Given the description of an element on the screen output the (x, y) to click on. 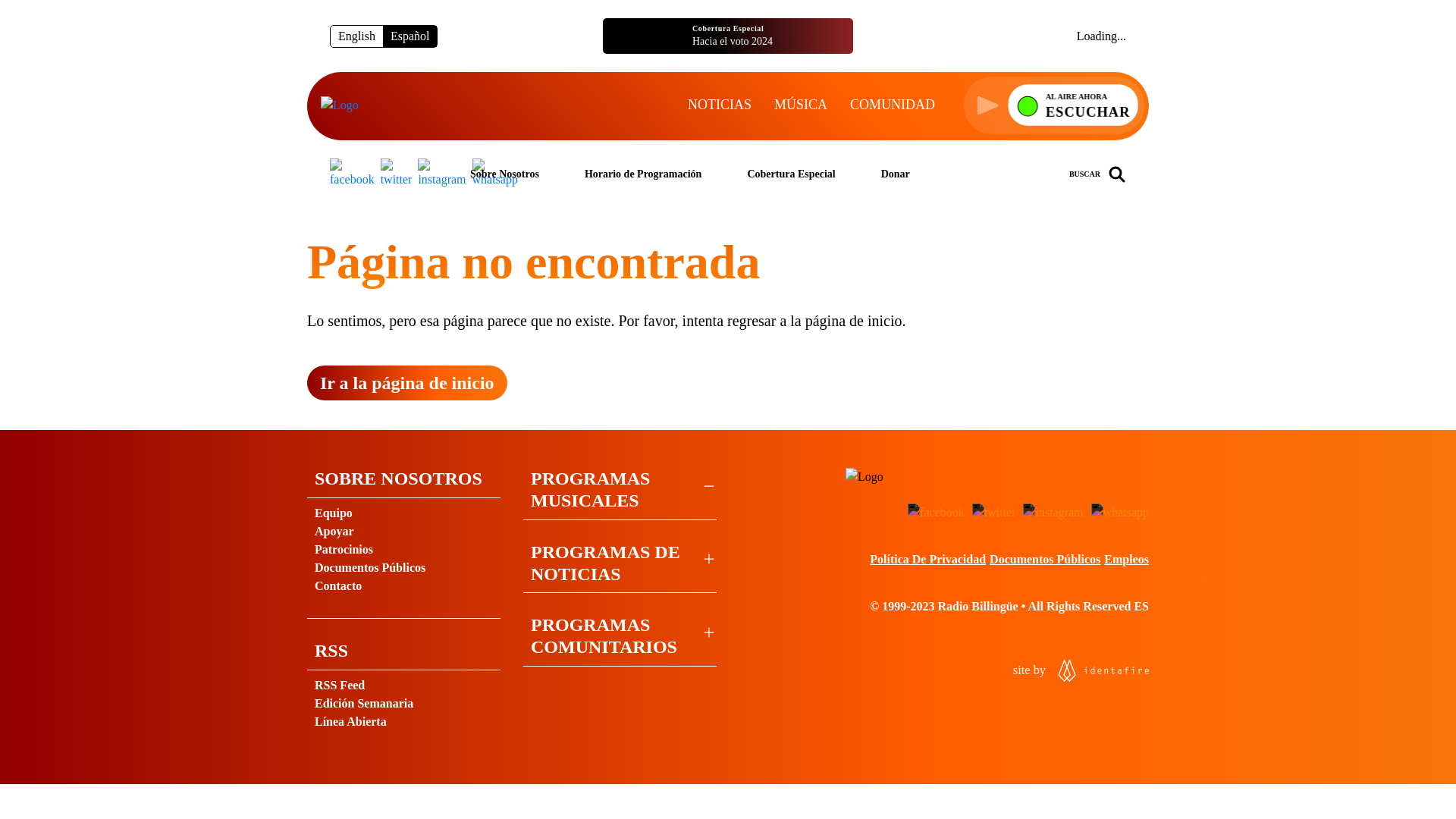
English (727, 36)
COMUNIDAD (1079, 670)
Sobre Nosotros (356, 34)
NOTICIAS (892, 104)
